Given the description of an element on the screen output the (x, y) to click on. 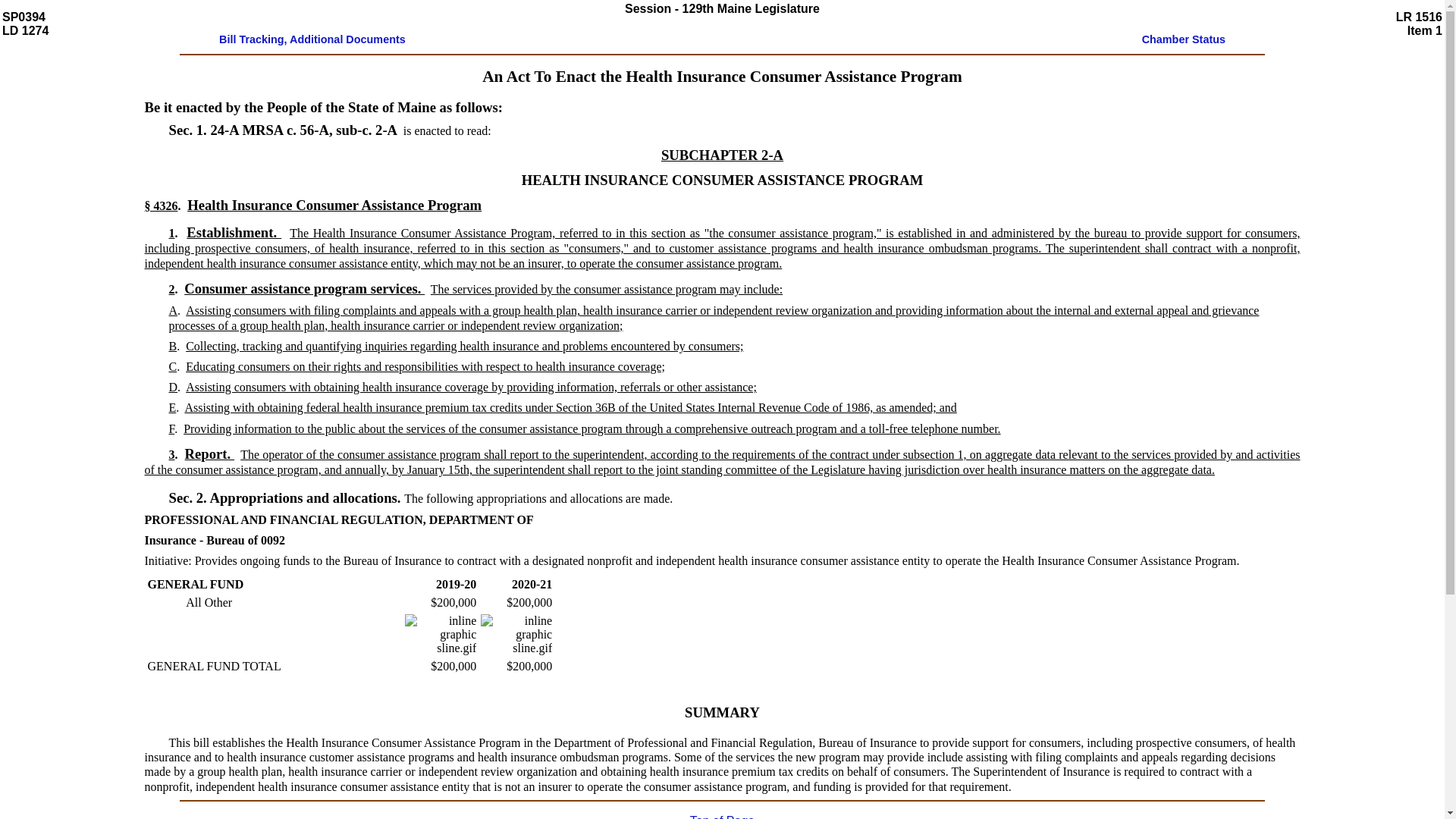
Top of Page (722, 816)
Chamber Status (1183, 38)
Bill Tracking, Additional Documents (312, 38)
